Given the description of an element on the screen output the (x, y) to click on. 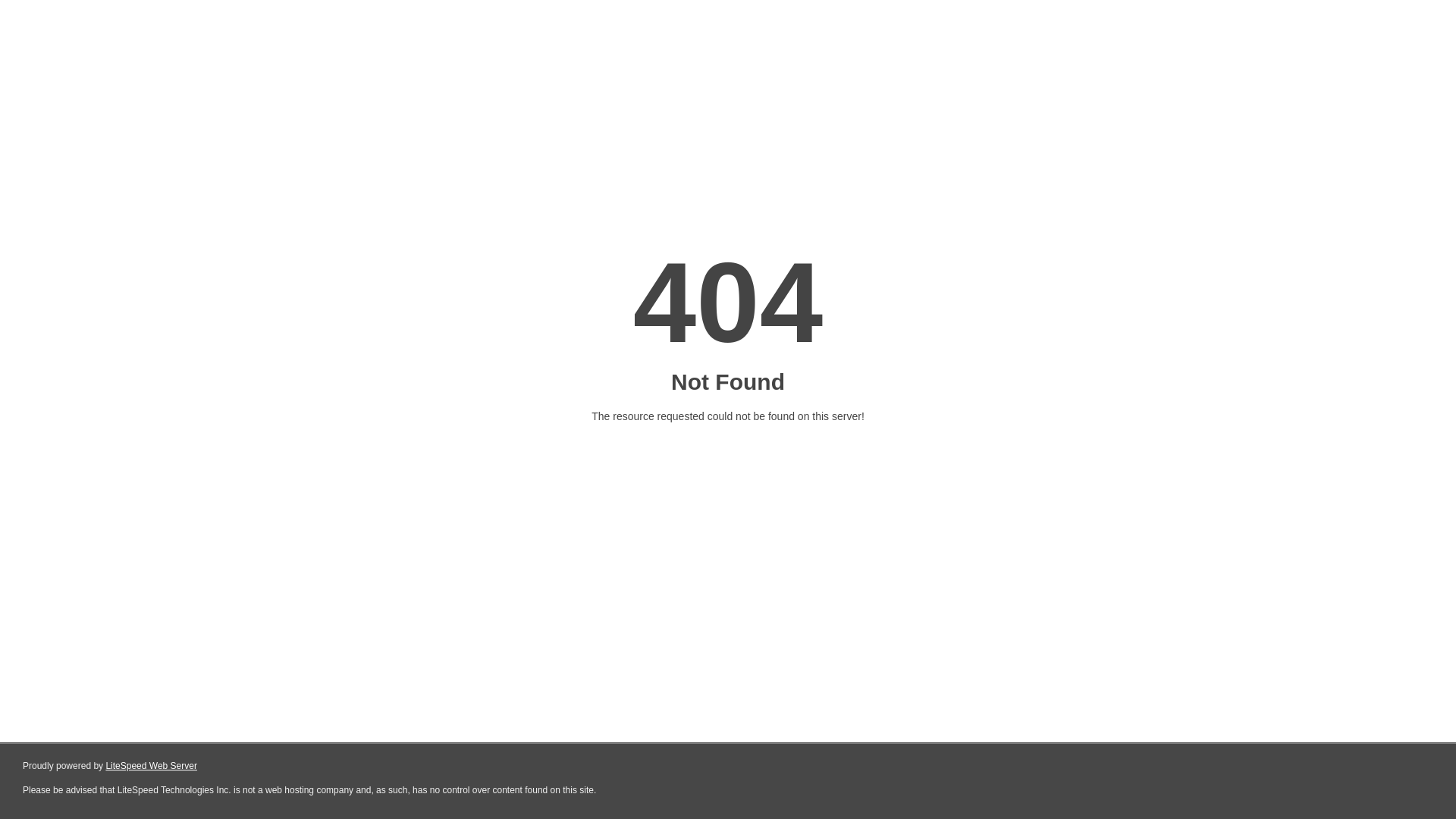
LiteSpeed Web Server Element type: text (151, 765)
